Given the description of an element on the screen output the (x, y) to click on. 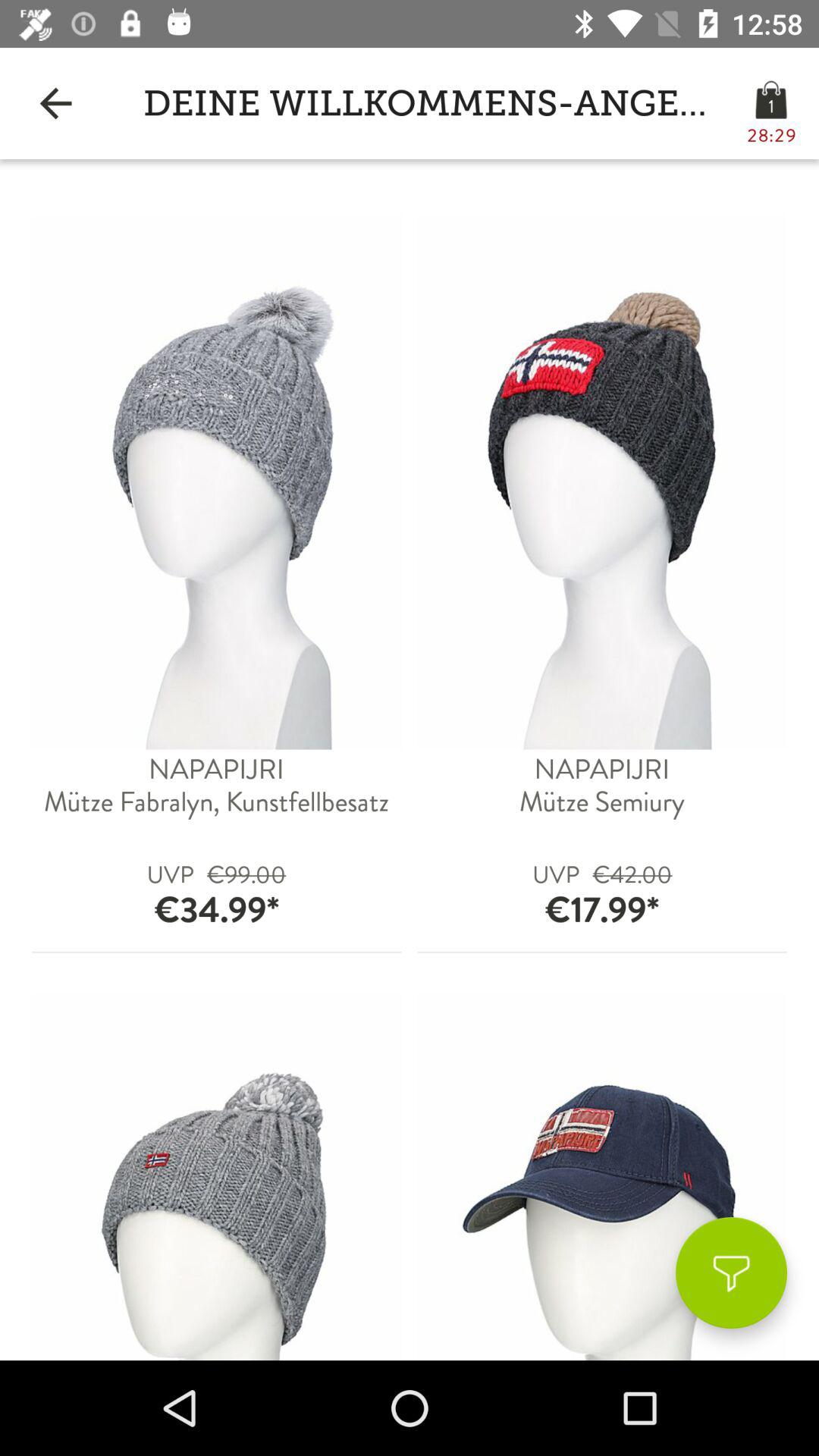
press the app to the left of deine willkommens-angebote item (55, 103)
